Given the description of an element on the screen output the (x, y) to click on. 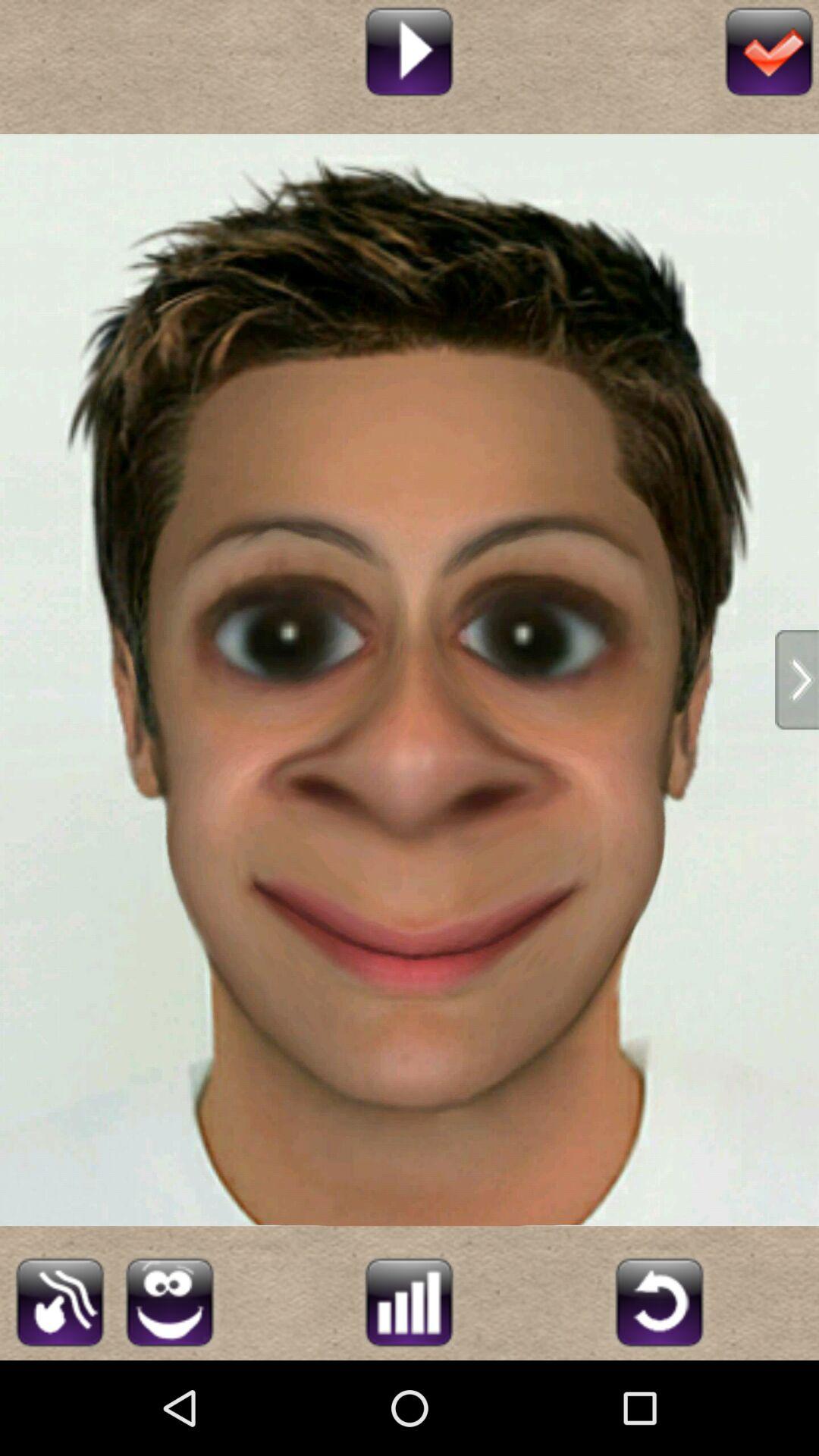
done editing (769, 49)
